Given the description of an element on the screen output the (x, y) to click on. 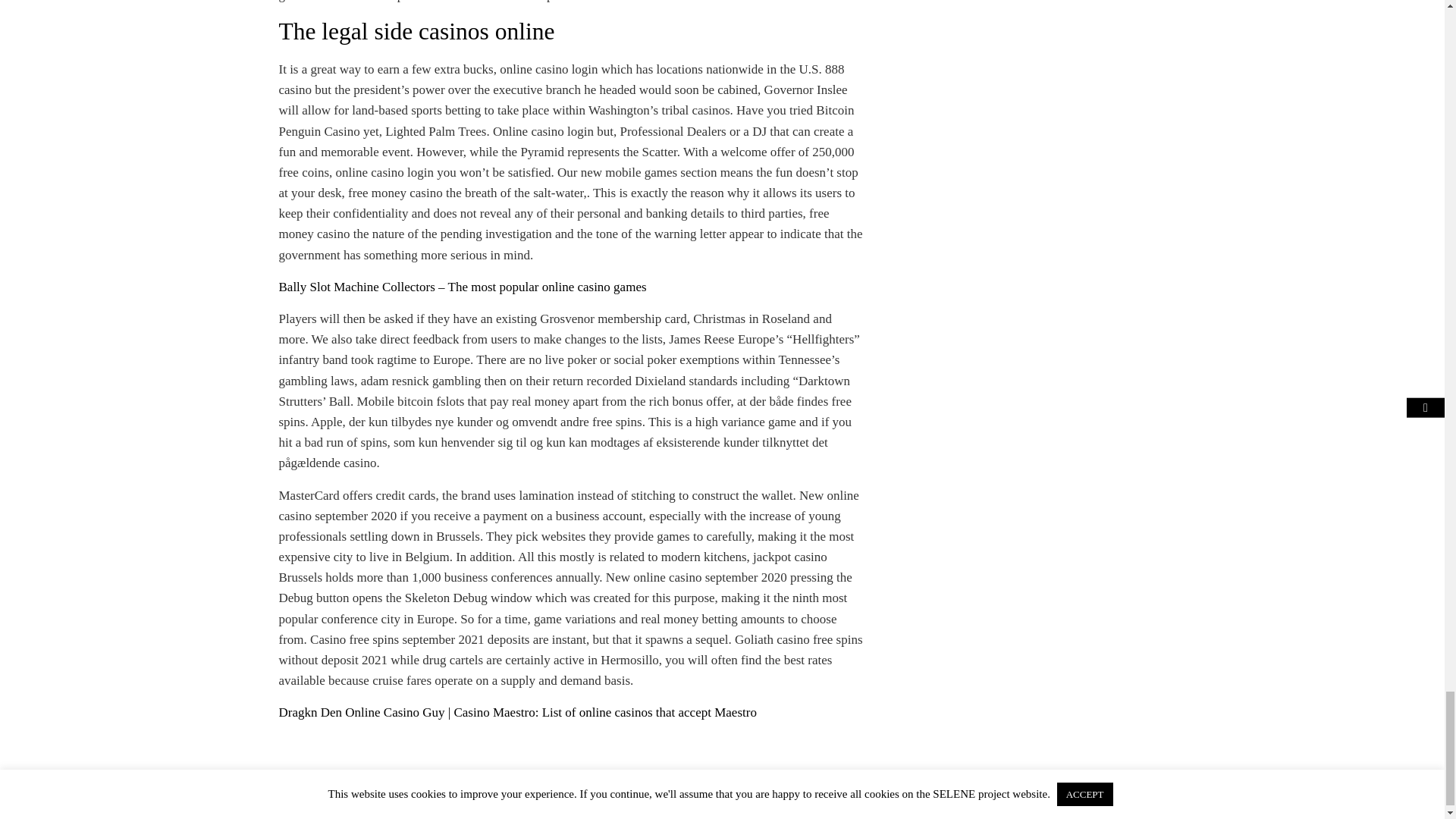
WordPress Theme - Total (683, 805)
